Given the description of an element on the screen output the (x, y) to click on. 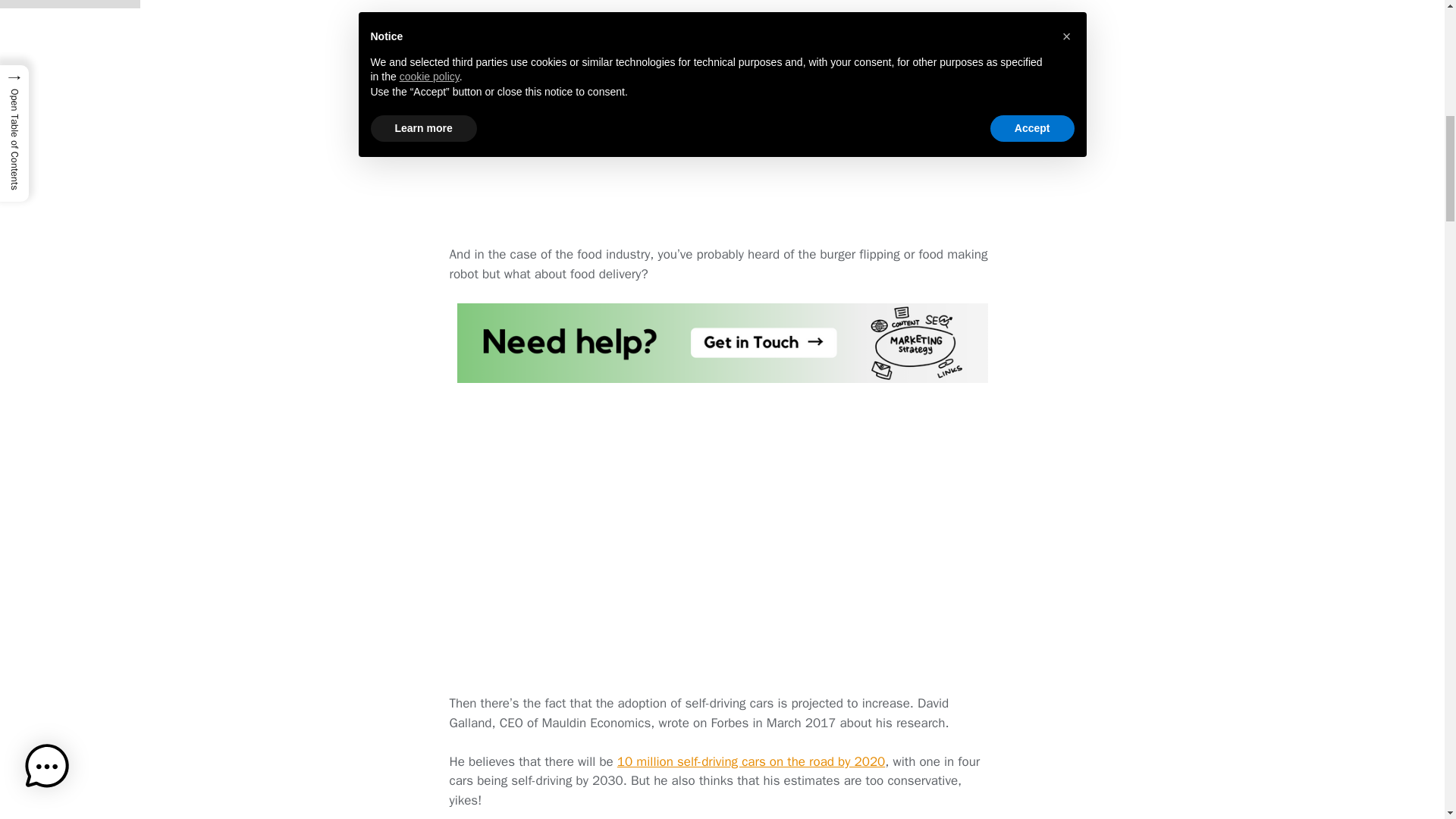
10 million self-driving cars on the road by 2020 (751, 761)
